Given the description of an element on the screen output the (x, y) to click on. 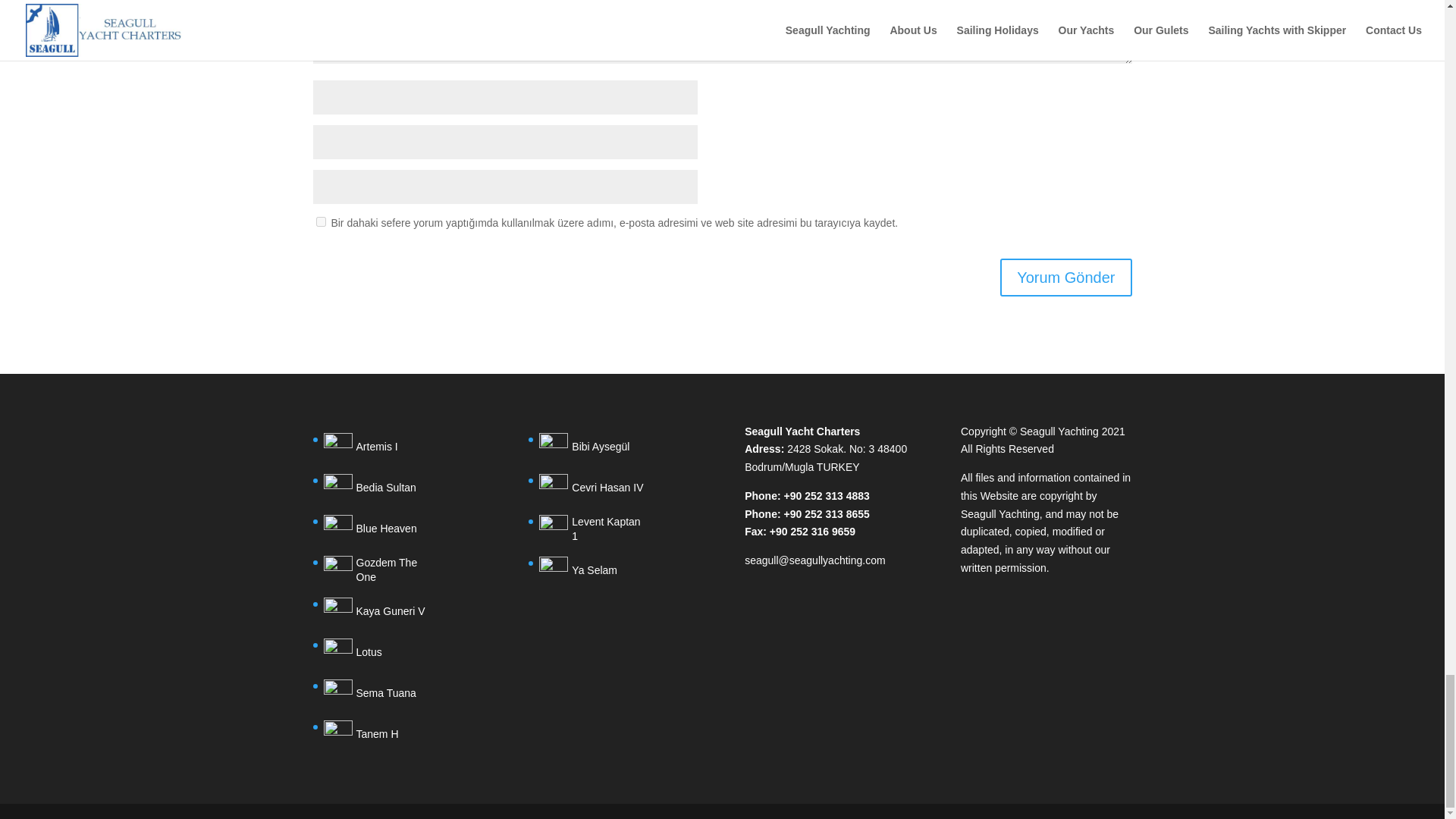
Lotus (381, 652)
Cevri Hasan IV (593, 488)
yes (319, 221)
Blue Heaven (381, 529)
Lotus (381, 652)
Artemis I (381, 447)
Tanem H (381, 734)
Levent Kaptan 1 (593, 529)
Bedia Sultan (381, 488)
Kaya Guneri V (381, 611)
Cevri Hasan IV (593, 488)
Levent Kaptan 1 (593, 529)
Gozdem The One (381, 570)
Blue Heaven (381, 529)
Bedia Sultan (381, 488)
